Given the description of an element on the screen output the (x, y) to click on. 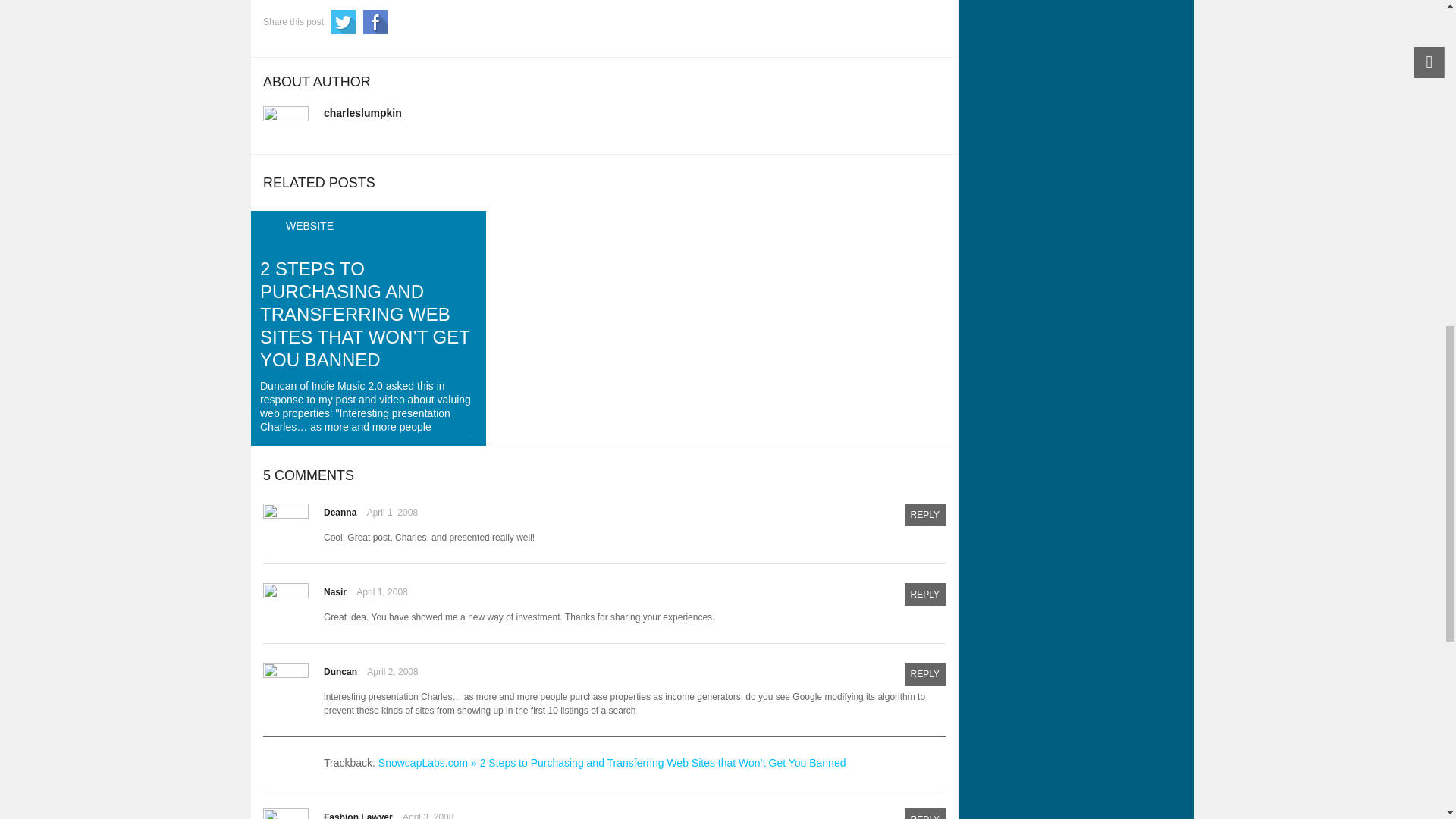
REPLY (924, 813)
charleslumpkin (362, 112)
REPLY (924, 514)
REPLY (924, 594)
REPLY (924, 673)
